Given the description of an element on the screen output the (x, y) to click on. 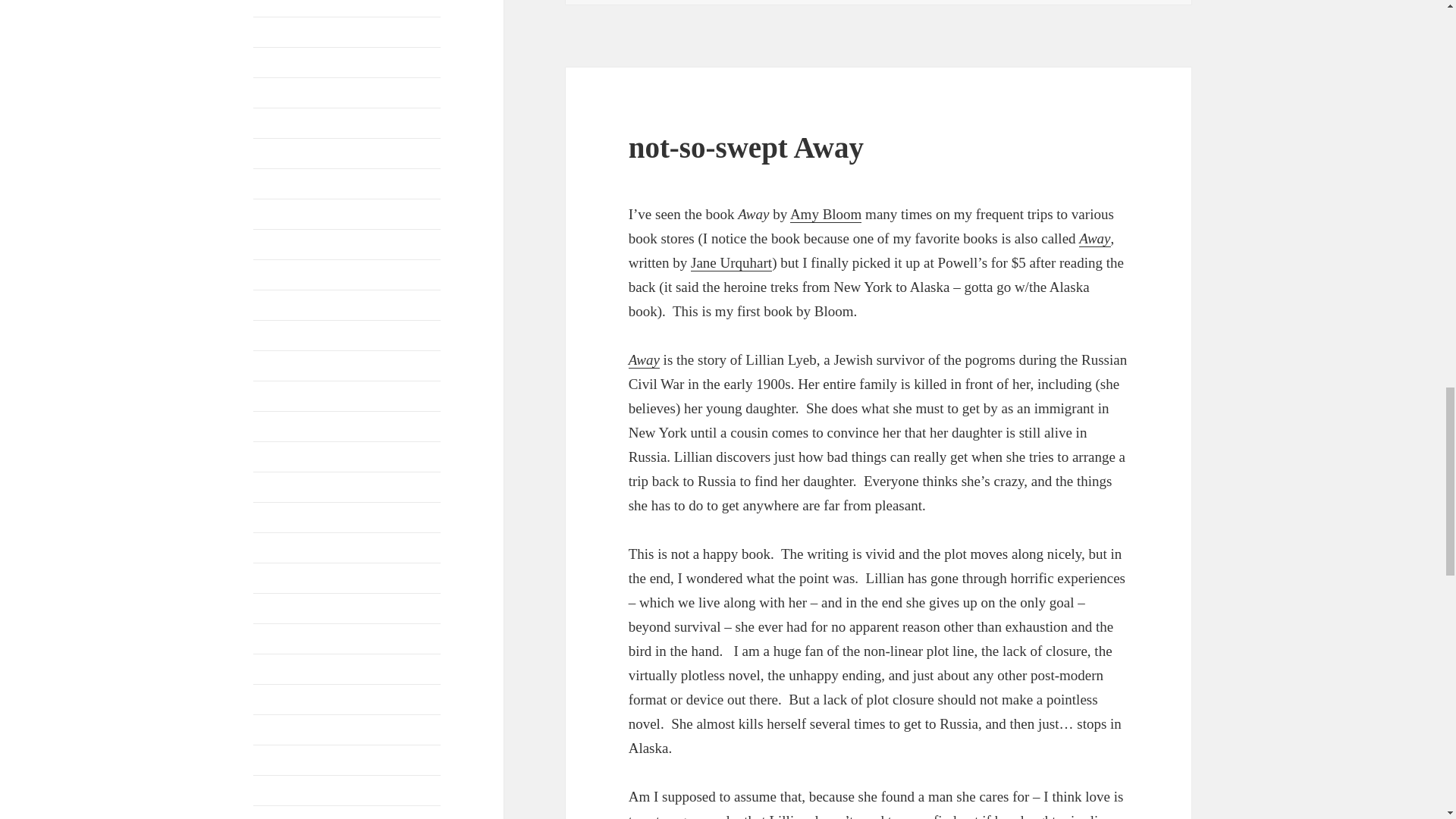
January 2016 (285, 31)
August 2015 (284, 153)
April 2016 (279, 4)
November 2015 (292, 62)
May 2015 (277, 244)
July 2015 (277, 183)
October 2015 (286, 92)
June 2015 (277, 214)
September 2015 (292, 123)
